Given the description of an element on the screen output the (x, y) to click on. 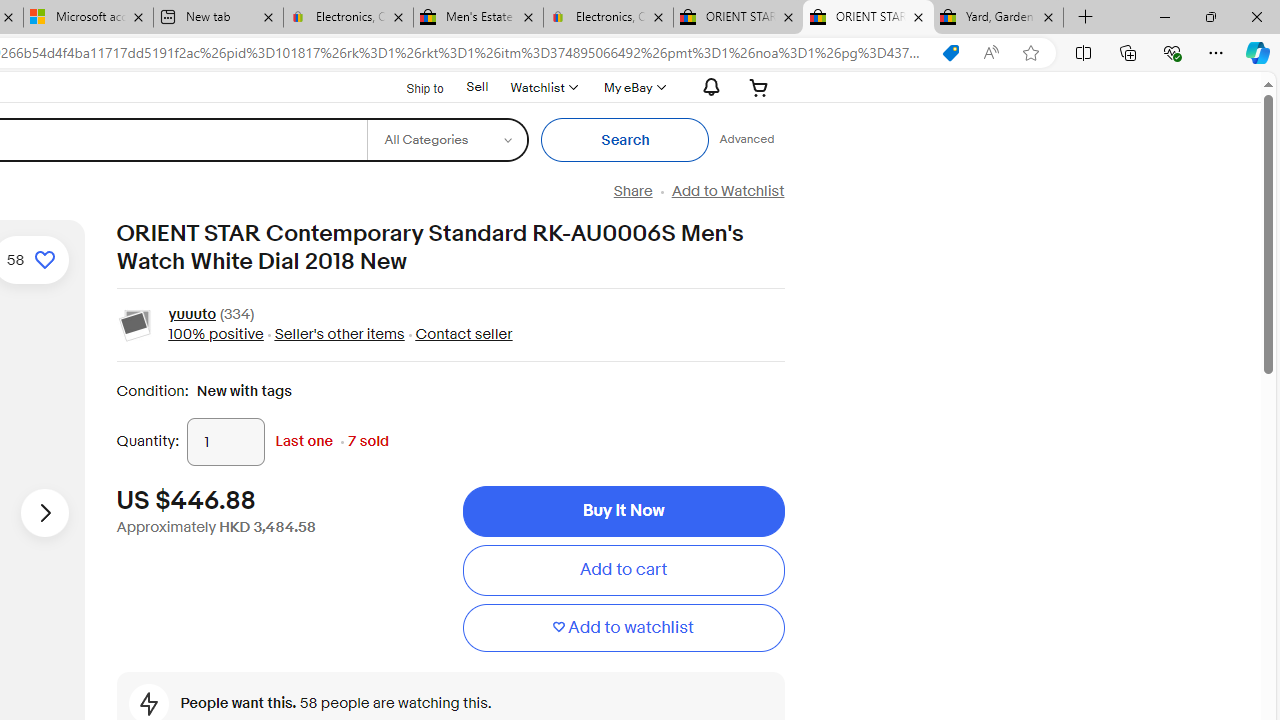
Class: ux-action (136, 325)
100% positive (215, 334)
Next image - Item images thumbnails (44, 512)
My eBayExpand My eBay (632, 87)
Buy It Now (623, 511)
Buy It Now (623, 511)
(334) (236, 315)
